Given the description of an element on the screen output the (x, y) to click on. 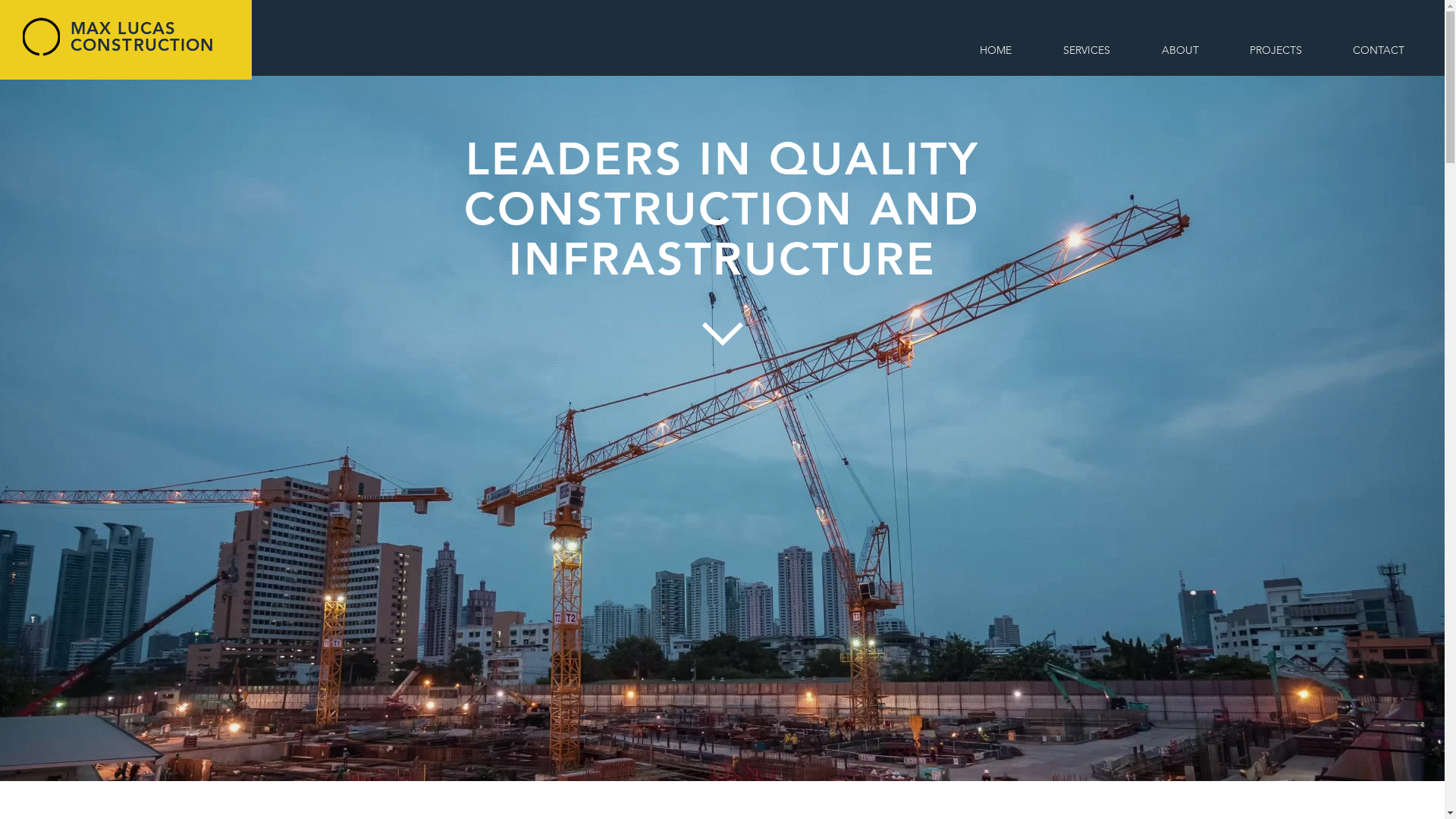
HOME Element type: text (995, 50)
PROJECTS Element type: text (1275, 50)
SERVICES Element type: text (1086, 50)
CONTACT Element type: text (1378, 50)
ABOUT Element type: text (1179, 50)
